Given the description of an element on the screen output the (x, y) to click on. 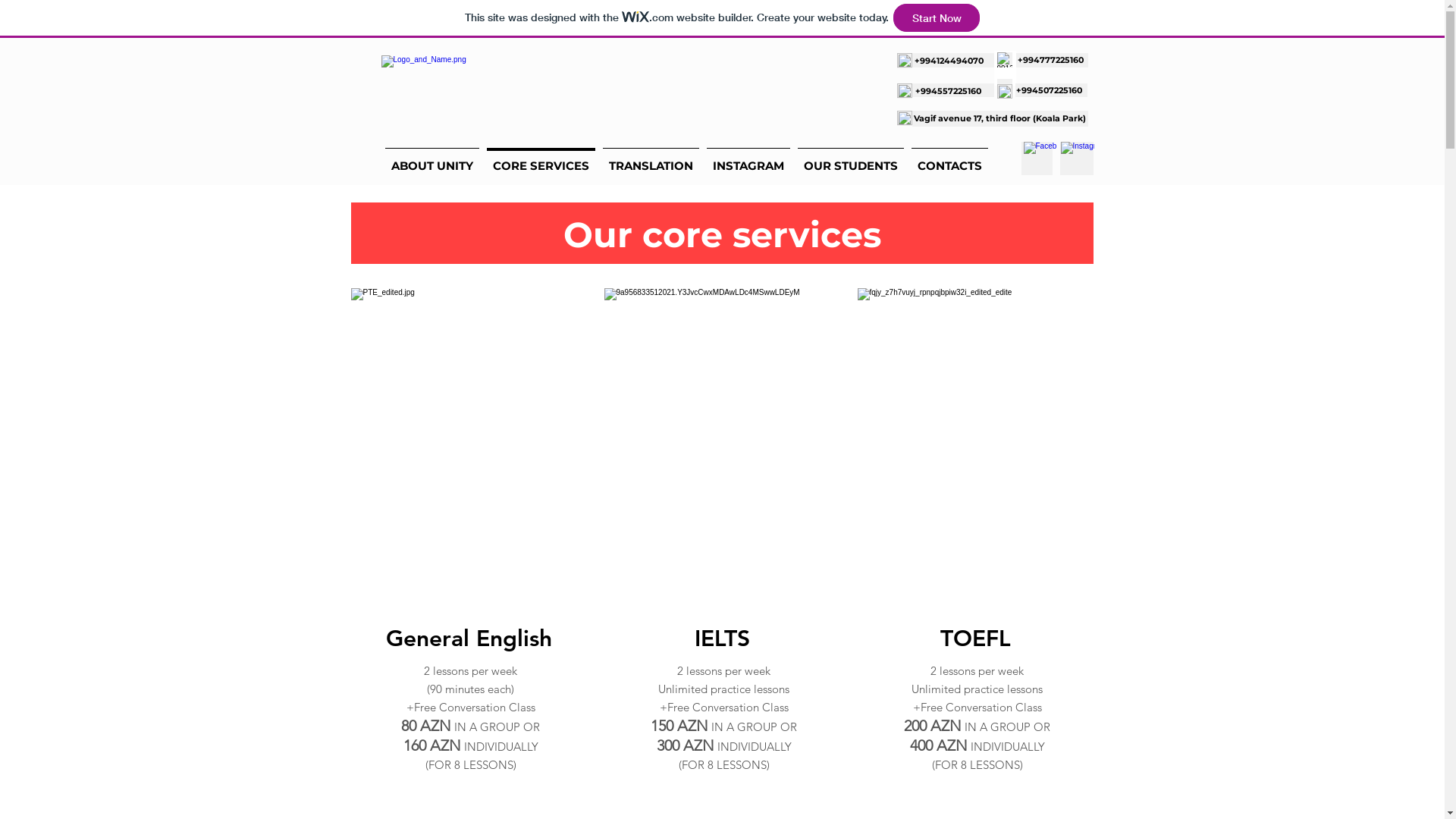
ABOUT UNITY Element type: text (431, 158)
OUR STUDENTS Element type: text (849, 158)
CONTACTS Element type: text (948, 158)
CORE SERVICES Element type: text (540, 158)
TRANSLATION Element type: text (650, 158)
INSTAGRAM Element type: text (747, 158)
